Given the description of an element on the screen output the (x, y) to click on. 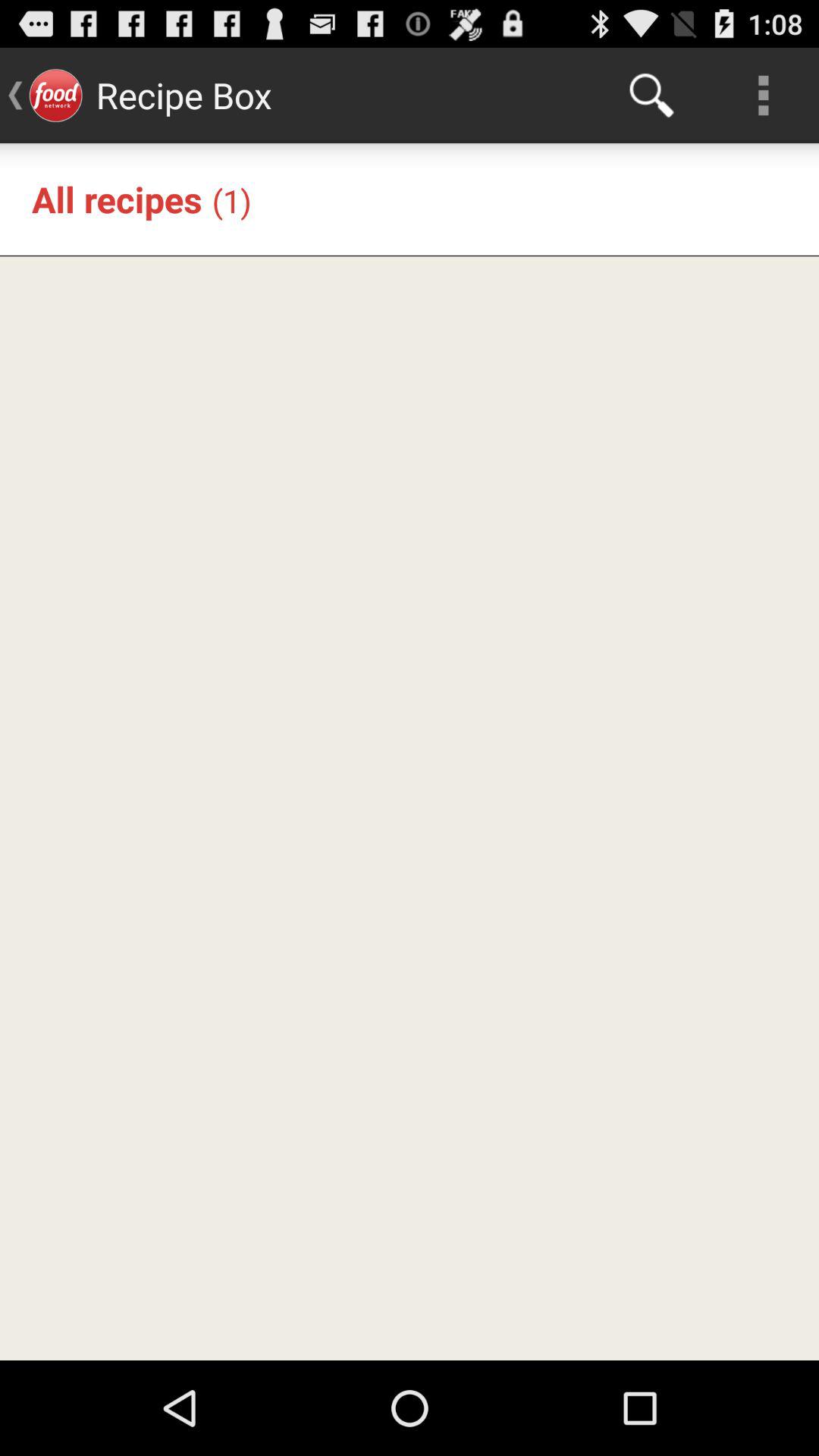
tap the app to the right of the all recipes app (231, 200)
